Given the description of an element on the screen output the (x, y) to click on. 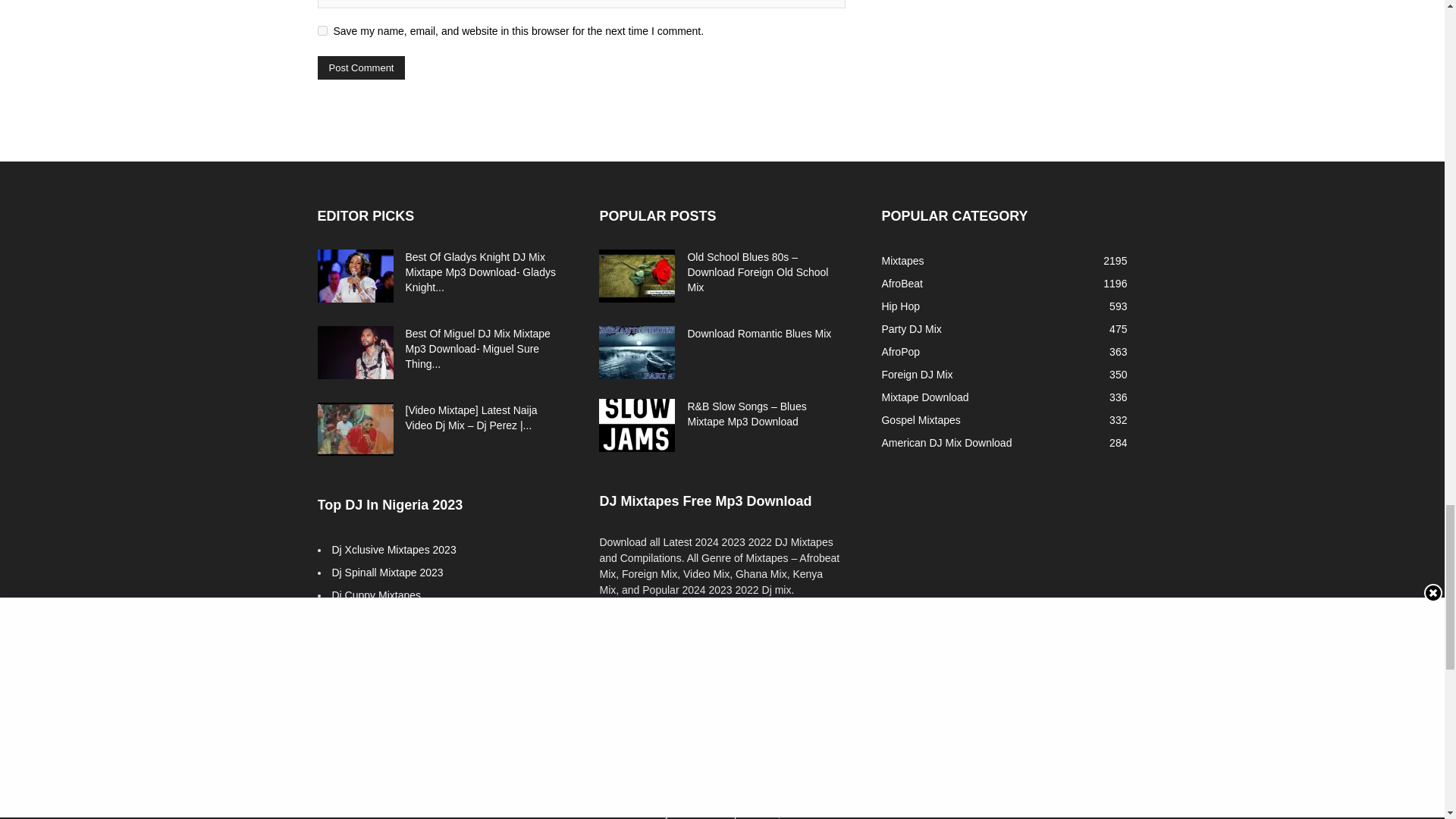
Post Comment (360, 67)
yes (321, 30)
